Given the description of an element on the screen output the (x, y) to click on. 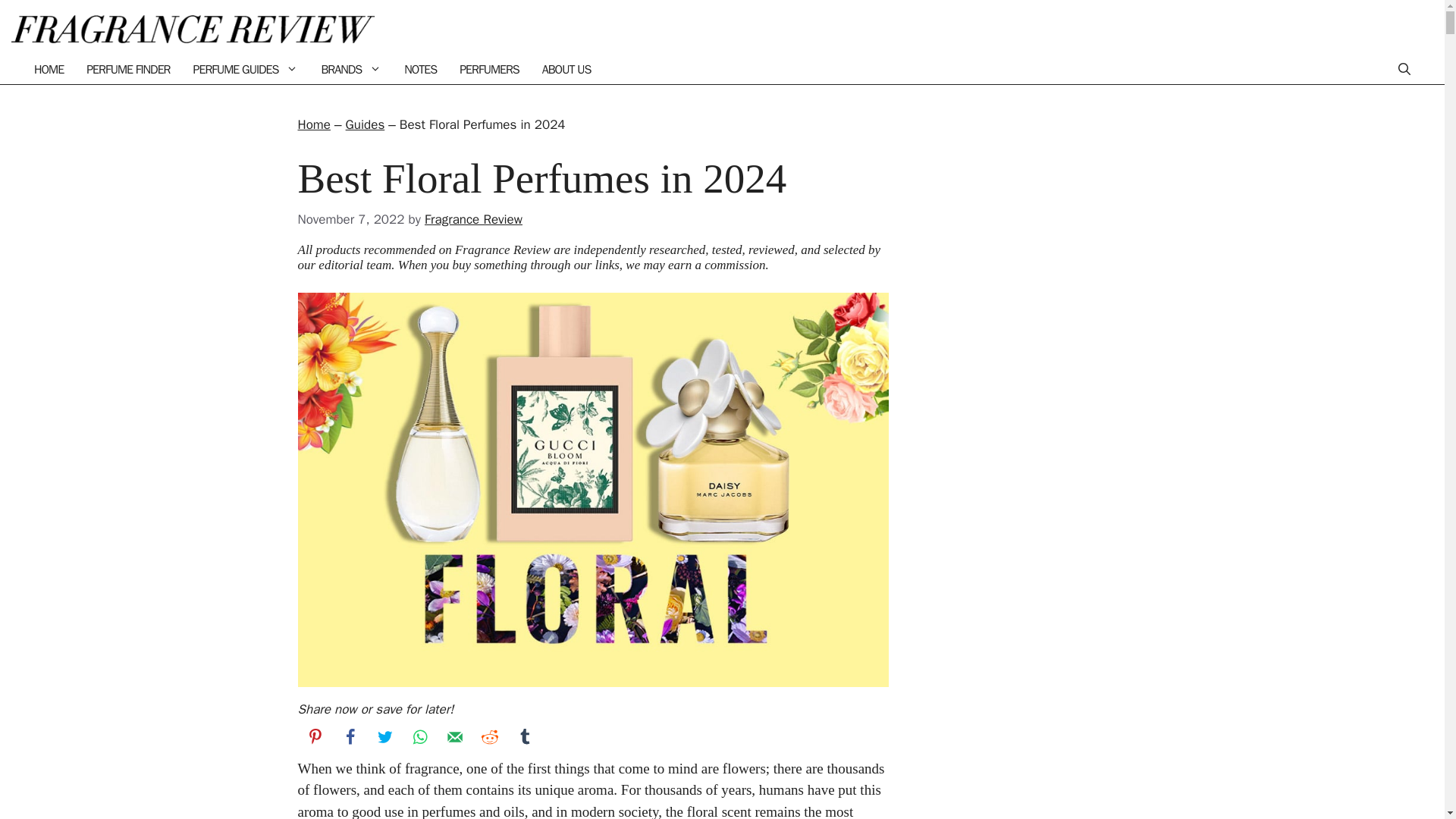
Save to Pinterest (314, 736)
Share on Tumblr (523, 736)
Share on Twitter (383, 736)
Share on Reddit (488, 736)
Send over email (453, 736)
Share on Facebook (348, 736)
Share on WhatsApp (418, 736)
HOME (49, 69)
View all posts by Fragrance Review (473, 219)
